Given the description of an element on the screen output the (x, y) to click on. 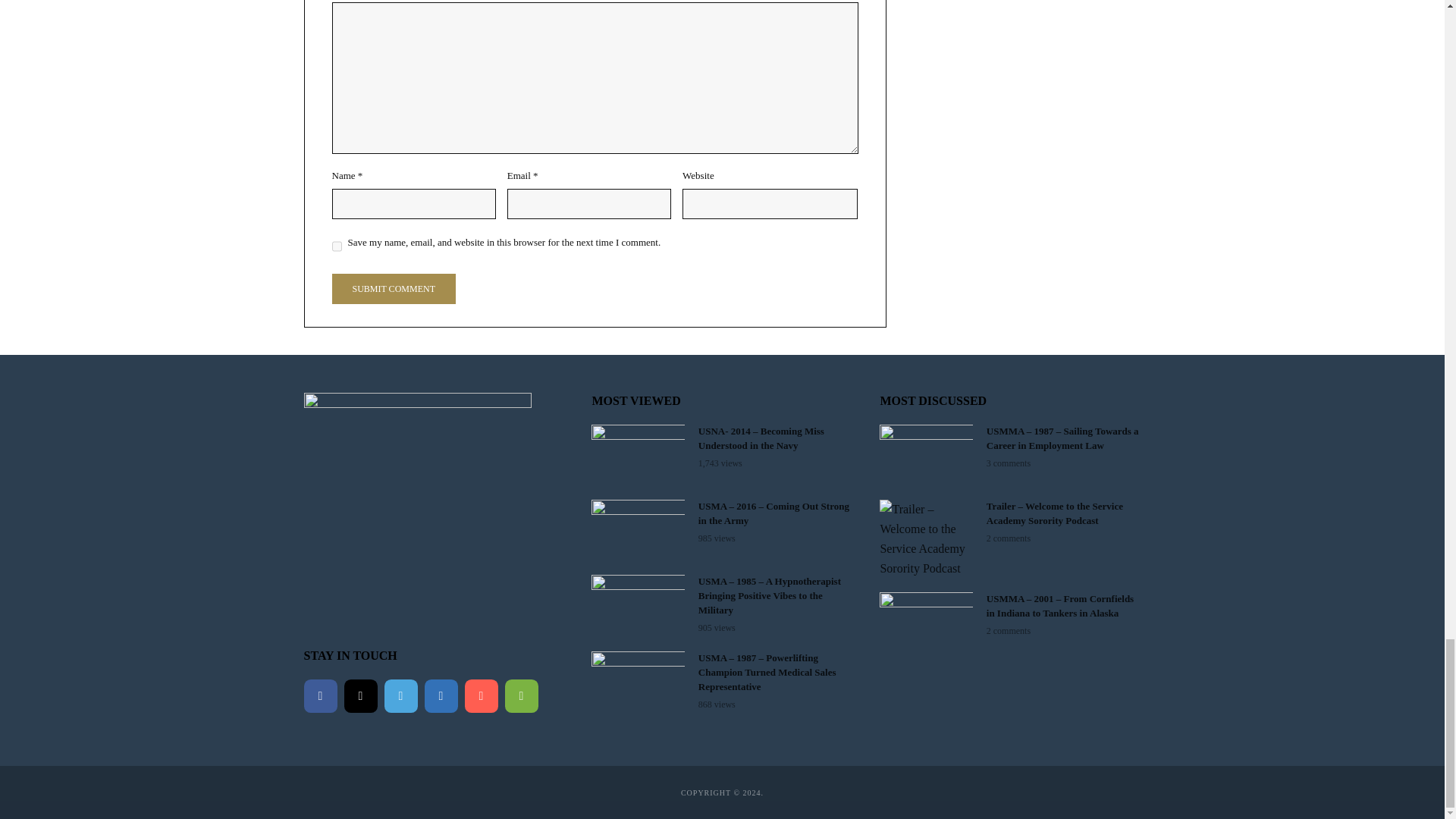
Facebook (319, 695)
Instagram (360, 695)
Linkedin (441, 695)
iTunes (480, 695)
Submit Comment (393, 288)
Spotify (521, 695)
Twitter (400, 695)
